Given the description of an element on the screen output the (x, y) to click on. 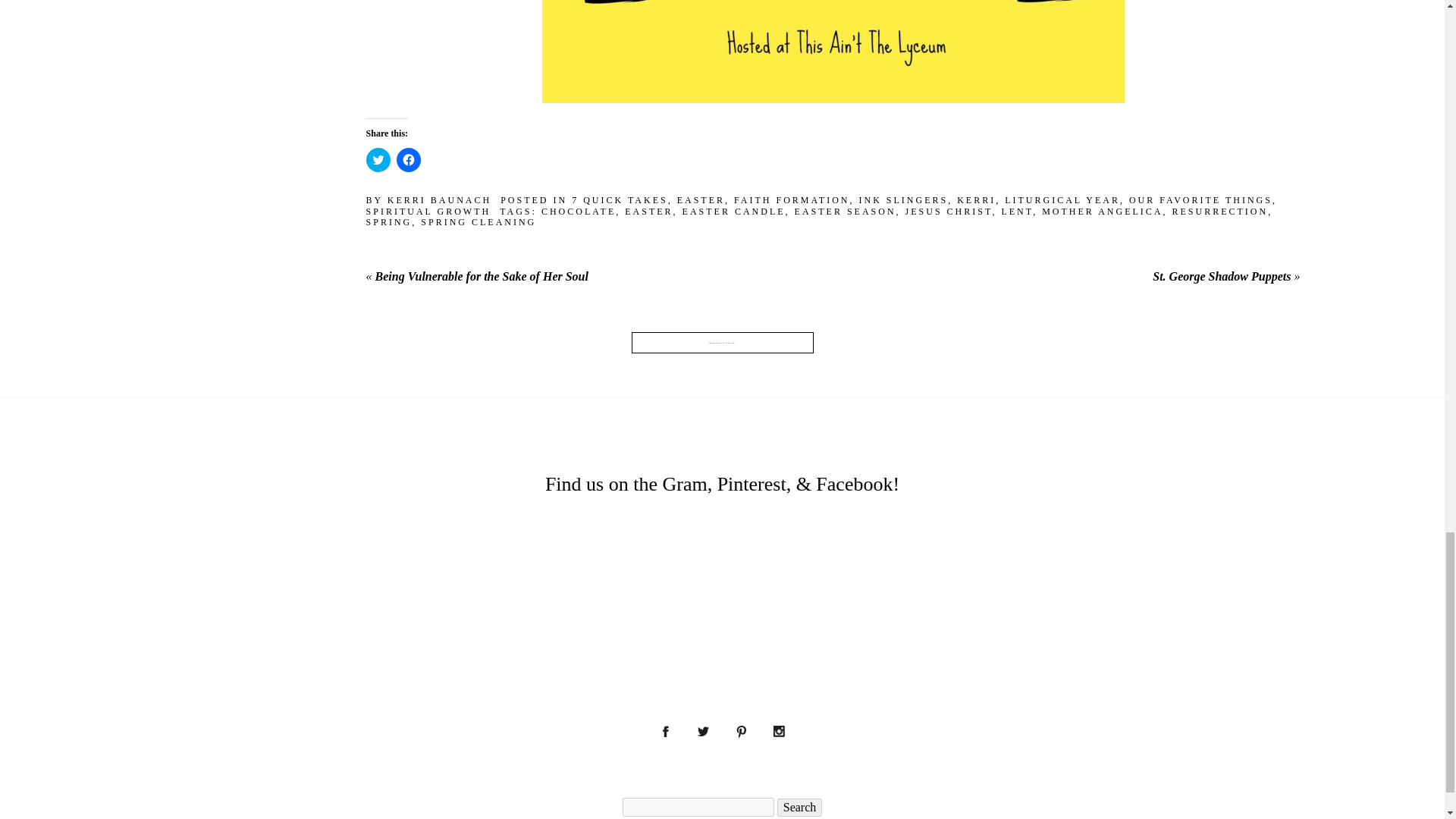
INK SLINGERS (903, 199)
Click to share on Twitter (378, 159)
FAITH FORMATION (790, 199)
OUR FAVORITE THINGS (1200, 199)
LITURGICAL YEAR (1061, 199)
SPIRITUAL GROWTH (429, 211)
CHOCOLATE (578, 211)
KERRI (975, 199)
EASTER (701, 199)
Search (799, 807)
